Given the description of an element on the screen output the (x, y) to click on. 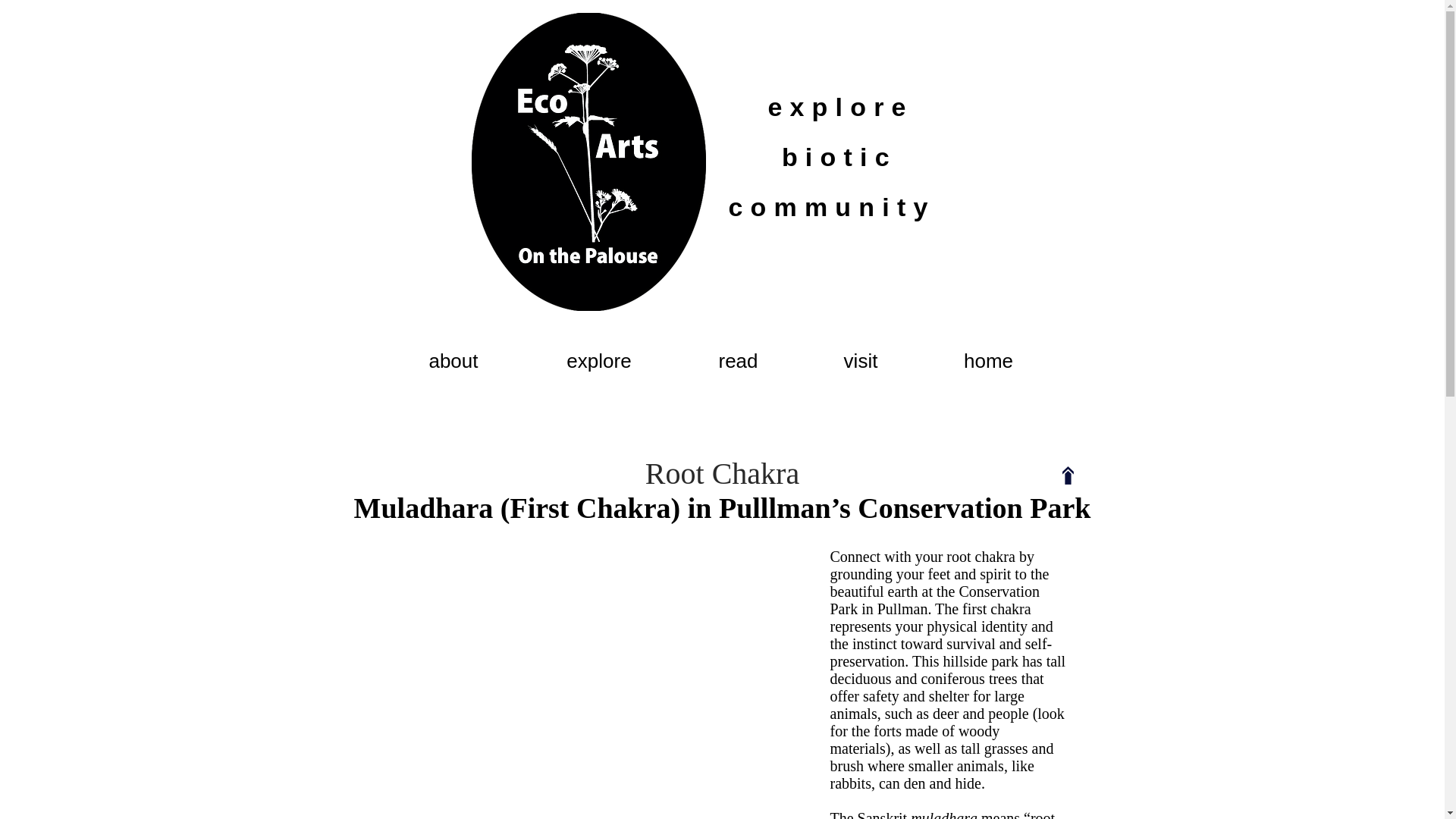
visit (860, 360)
about (453, 360)
explore (598, 360)
home (987, 360)
read (738, 360)
